Given the description of an element on the screen output the (x, y) to click on. 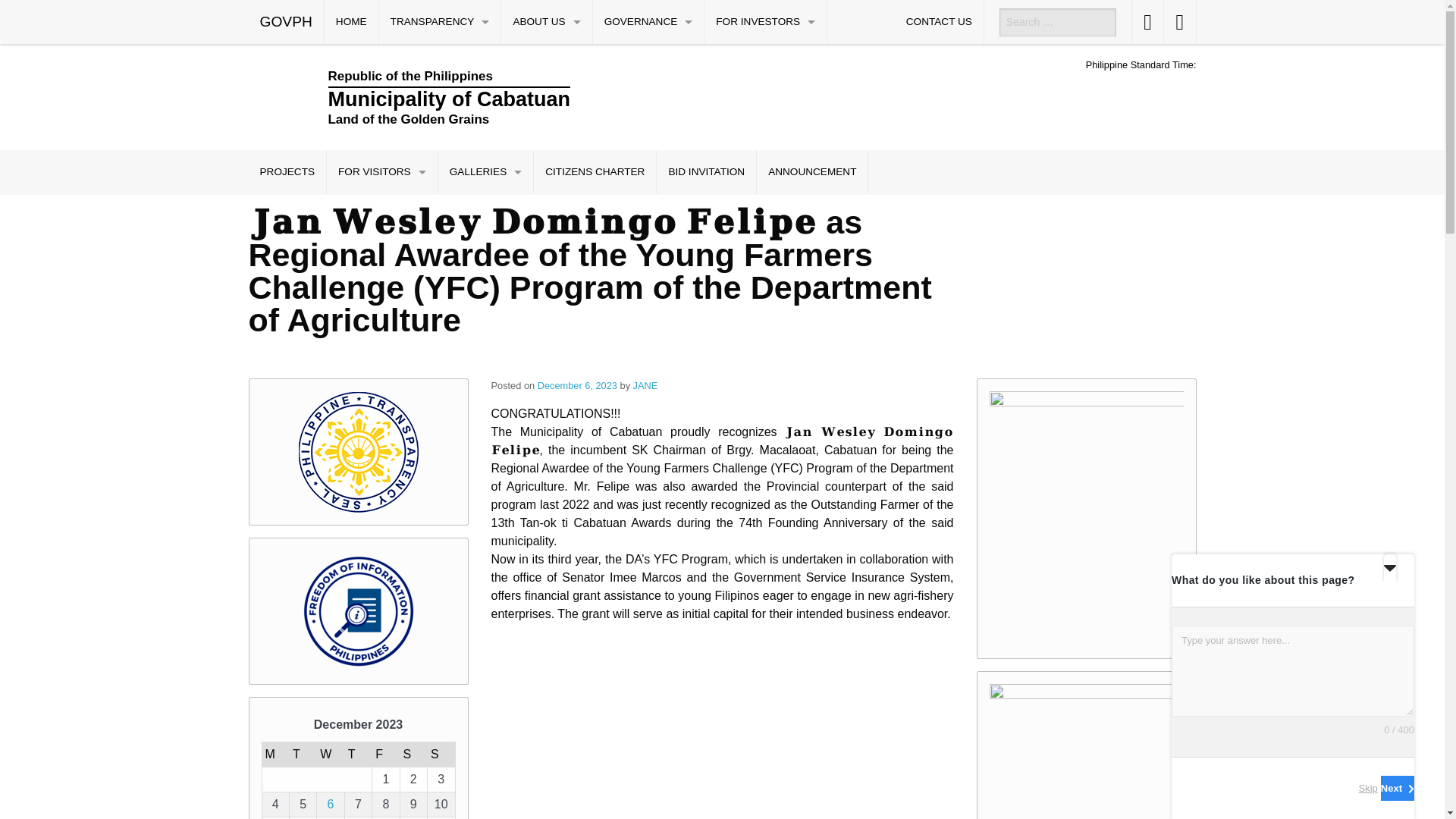
Tuesday (301, 754)
The Official Website of Cabatuan Isabela (600, 96)
Search for: (1057, 21)
View all posts by JANE (645, 385)
2:39 am (578, 385)
Transparency Seal (358, 451)
Monday (275, 754)
Freedom of Information (358, 610)
